Given the description of an element on the screen output the (x, y) to click on. 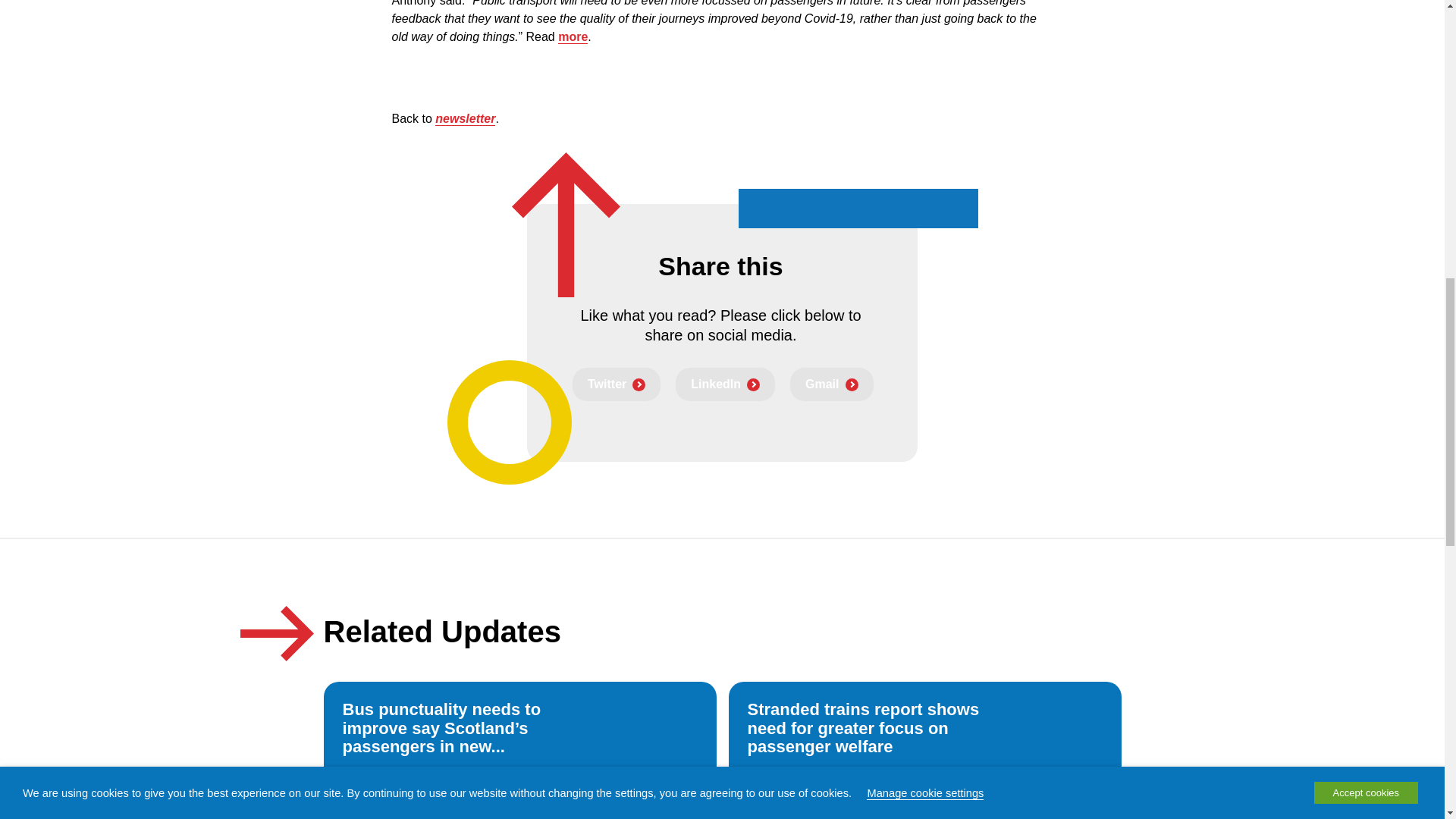
LinkedIn (724, 384)
Gmail (831, 384)
more (572, 37)
newsletter (465, 119)
Twitter (616, 384)
